Given the description of an element on the screen output the (x, y) to click on. 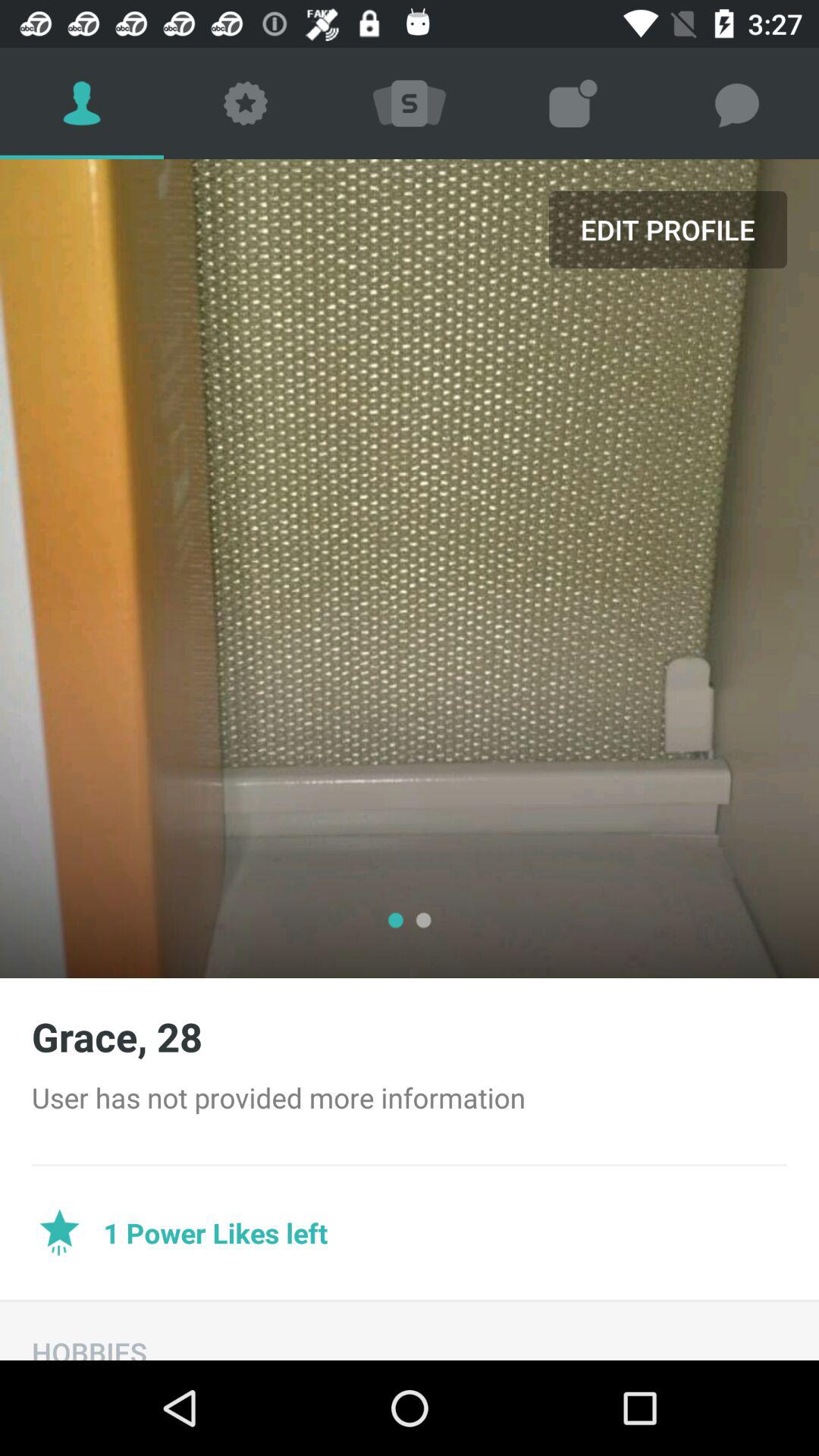
tap icon below grace, 28 icon (409, 1097)
